Given the description of an element on the screen output the (x, y) to click on. 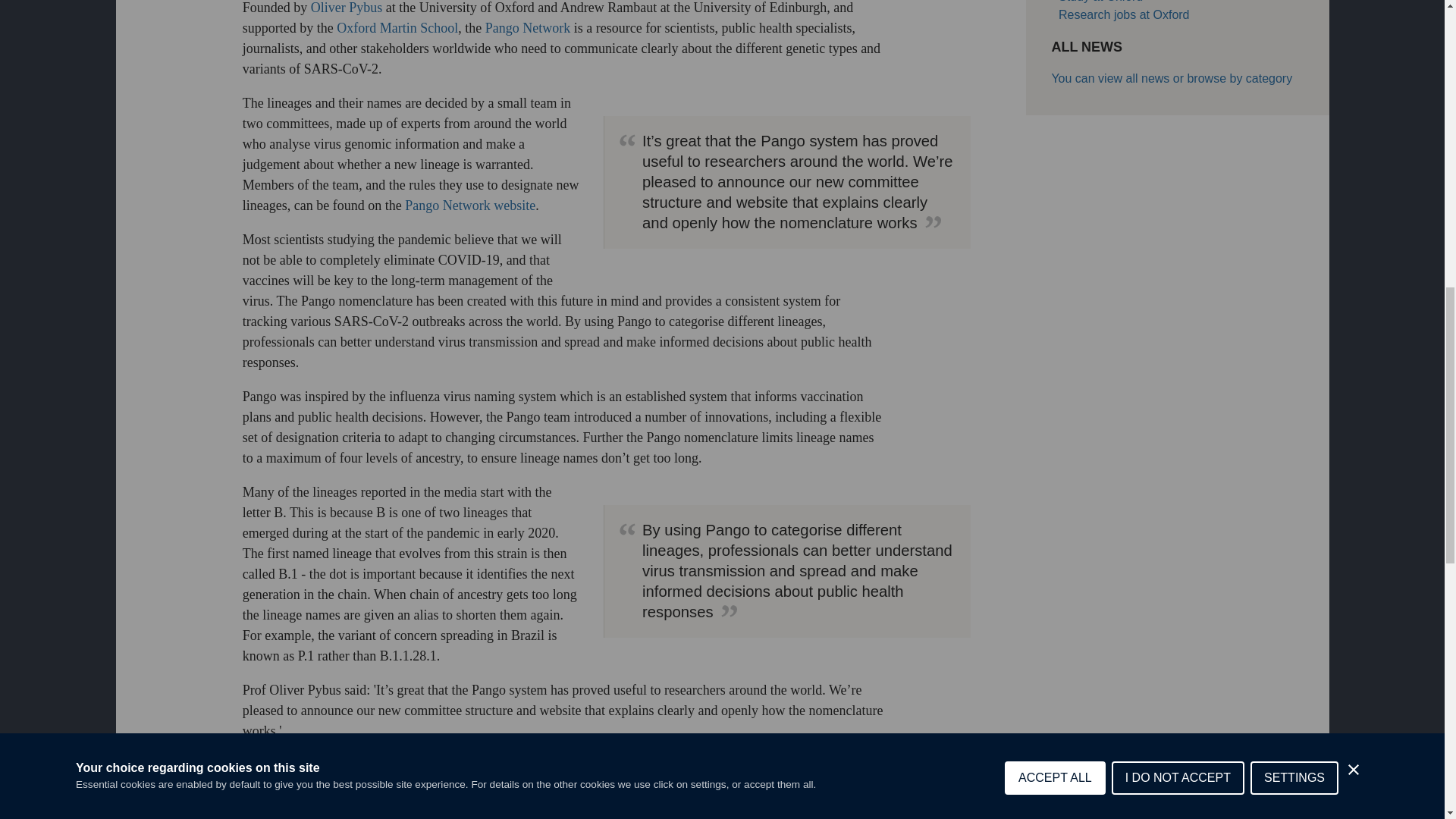
SETTINGS (1294, 13)
ACCEPT ALL (1054, 38)
I DO NOT ACCEPT (1178, 25)
